Given the description of an element on the screen output the (x, y) to click on. 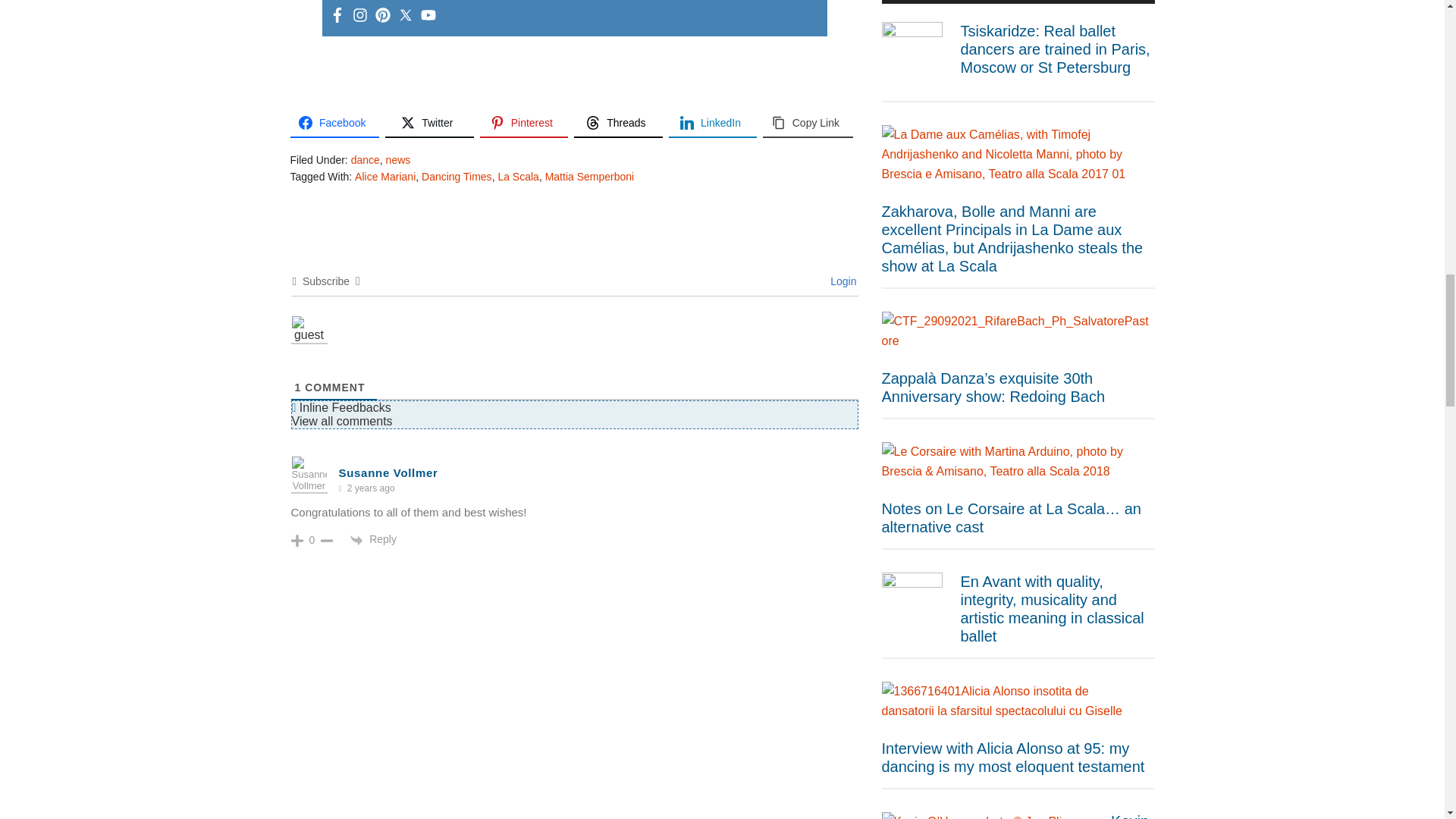
Pinterest (524, 123)
Facebook (333, 123)
Twitter (429, 123)
dance (365, 159)
Threads (617, 123)
LinkedIn (712, 123)
Copy Link (806, 123)
